Given the description of an element on the screen output the (x, y) to click on. 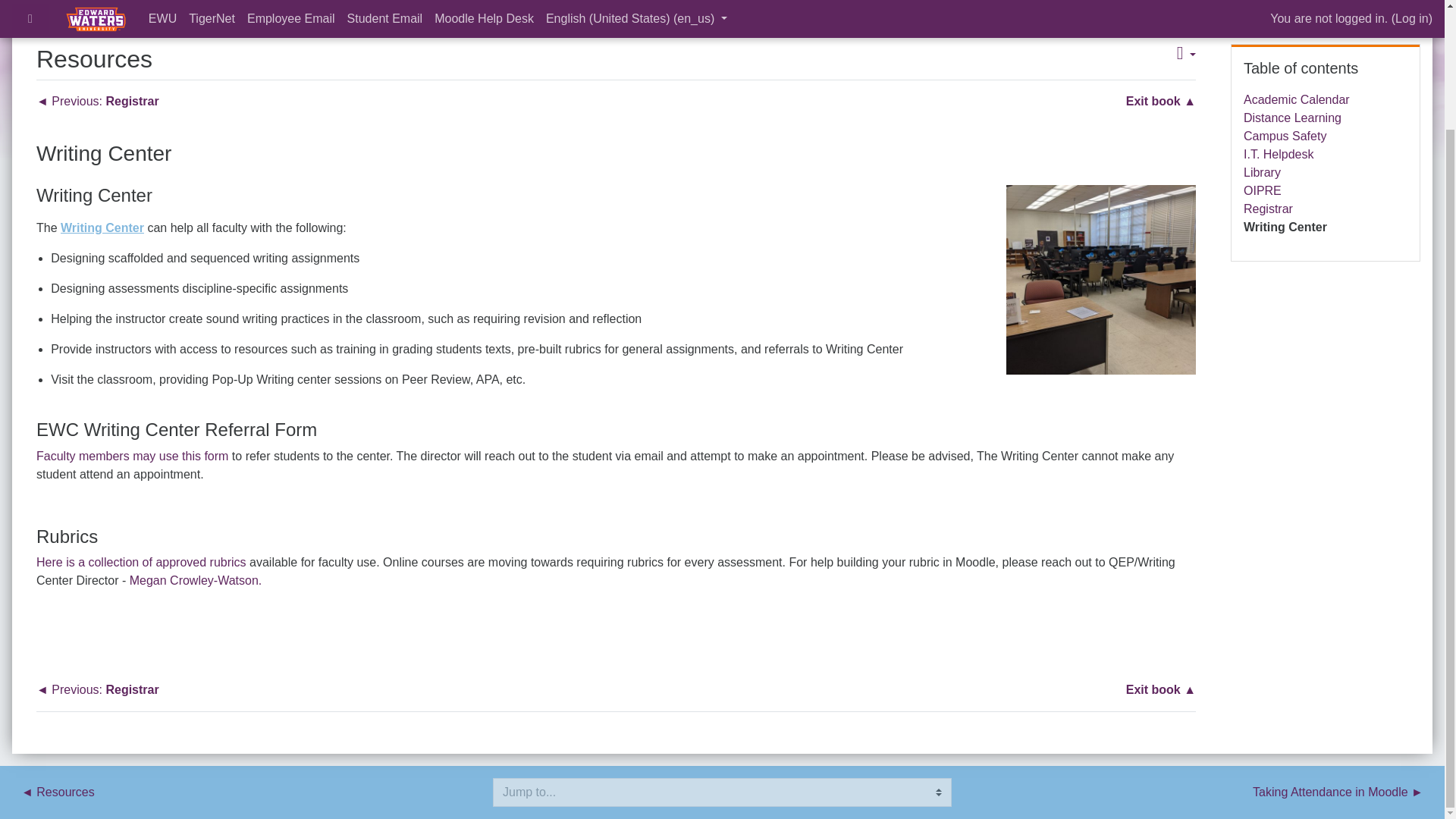
Exit book (1160, 689)
Library (1262, 172)
Previous (97, 689)
Registrar (1267, 208)
Academic Calendar (1296, 99)
Academic Calendar (1296, 99)
Megan Crowley-Watson. (195, 580)
Home (60, 1)
OIPRE (1262, 190)
Registrar (1267, 208)
Exit book (1160, 101)
I.T. Helpdesk (1278, 154)
Campus Safety (1284, 135)
I.T. Helpdesk (1278, 154)
OIPRE (1262, 190)
